Given the description of an element on the screen output the (x, y) to click on. 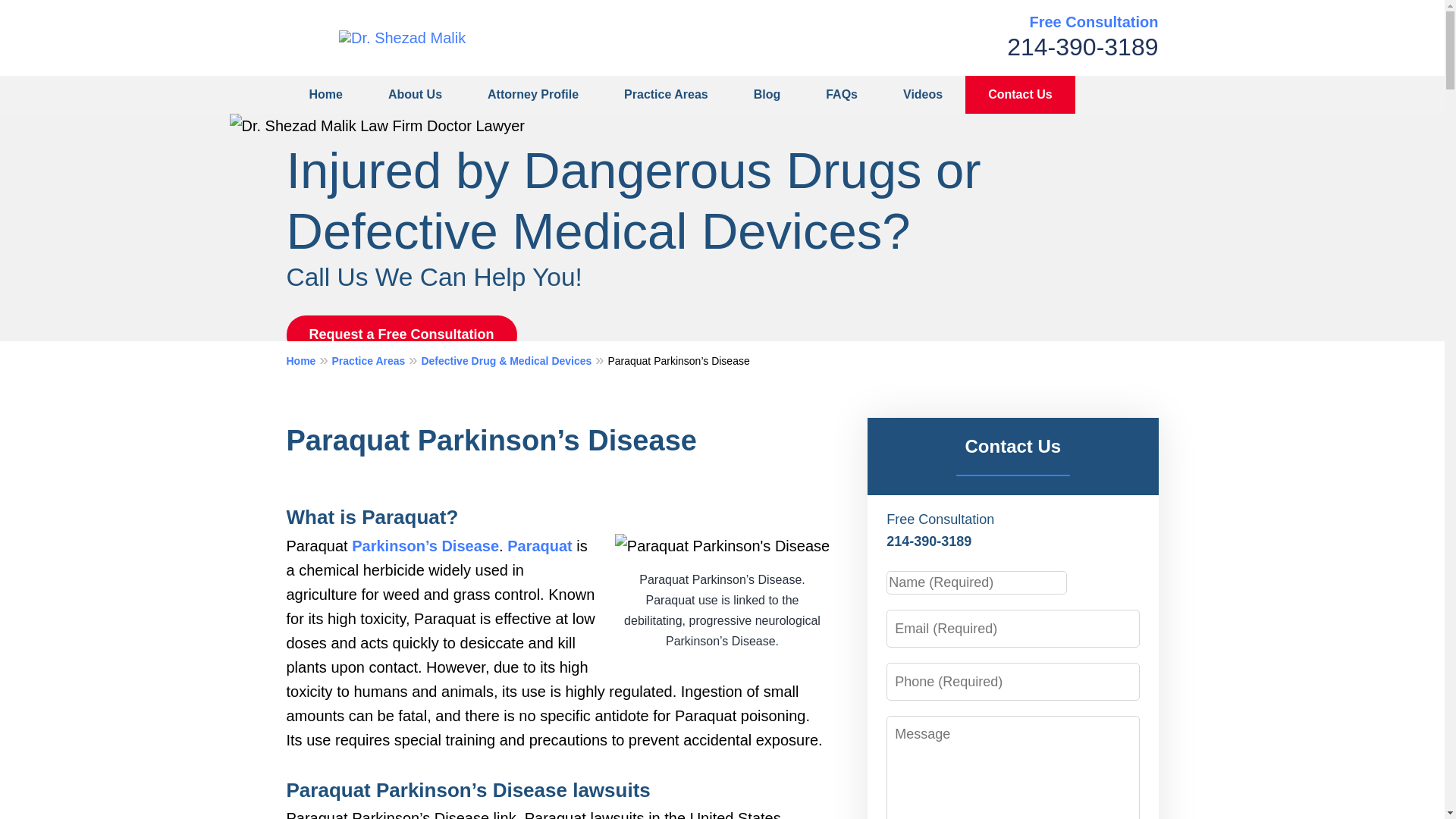
Home (325, 94)
Practice Areas (665, 94)
Paraquat (539, 545)
Home (308, 360)
Practice Areas (376, 360)
About Us (414, 94)
Contact Us (1019, 94)
Blog (766, 94)
Videos (922, 94)
FAQs (841, 94)
